Given the description of an element on the screen output the (x, y) to click on. 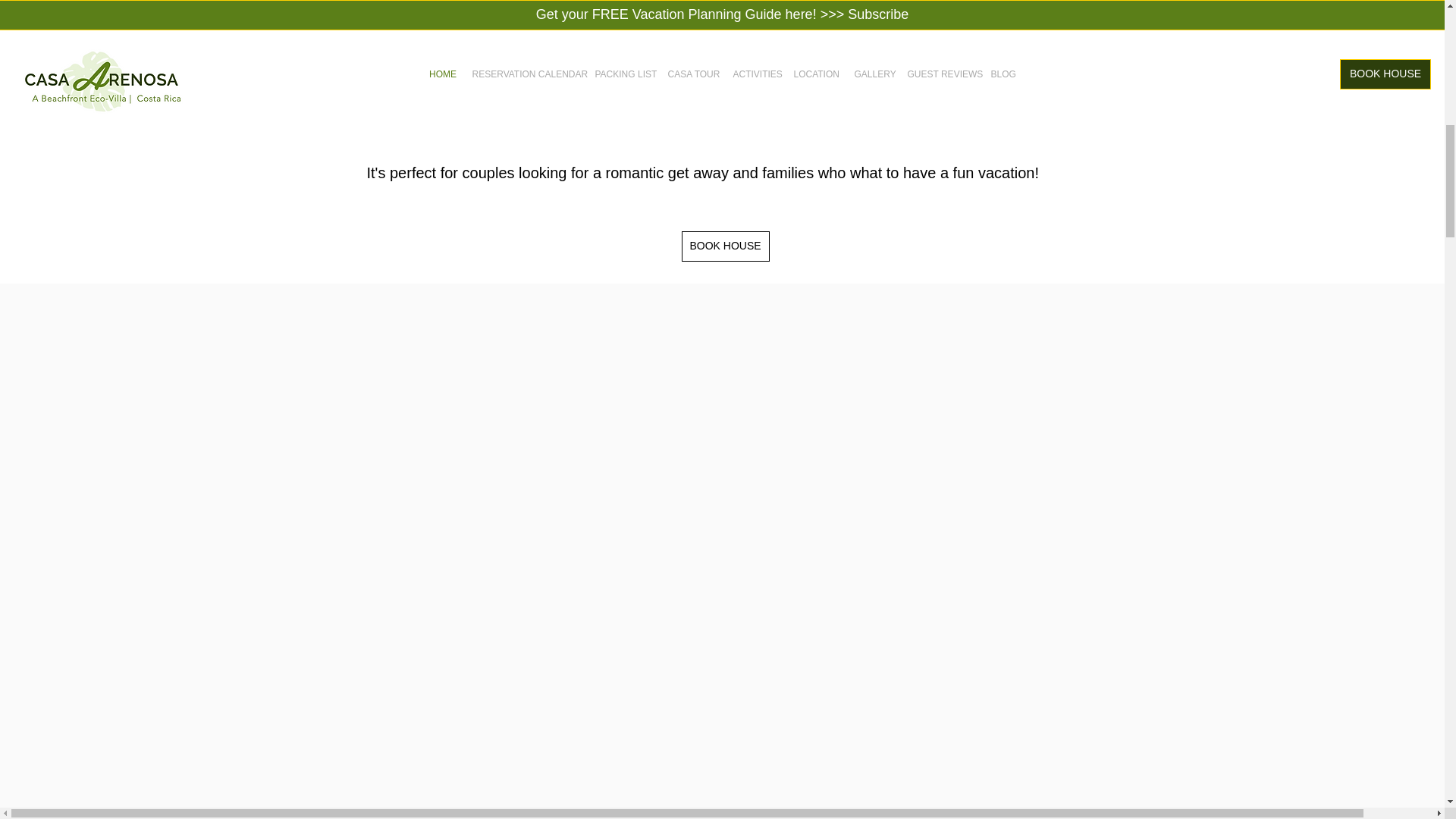
BOOK HOUSE (724, 245)
